Given the description of an element on the screen output the (x, y) to click on. 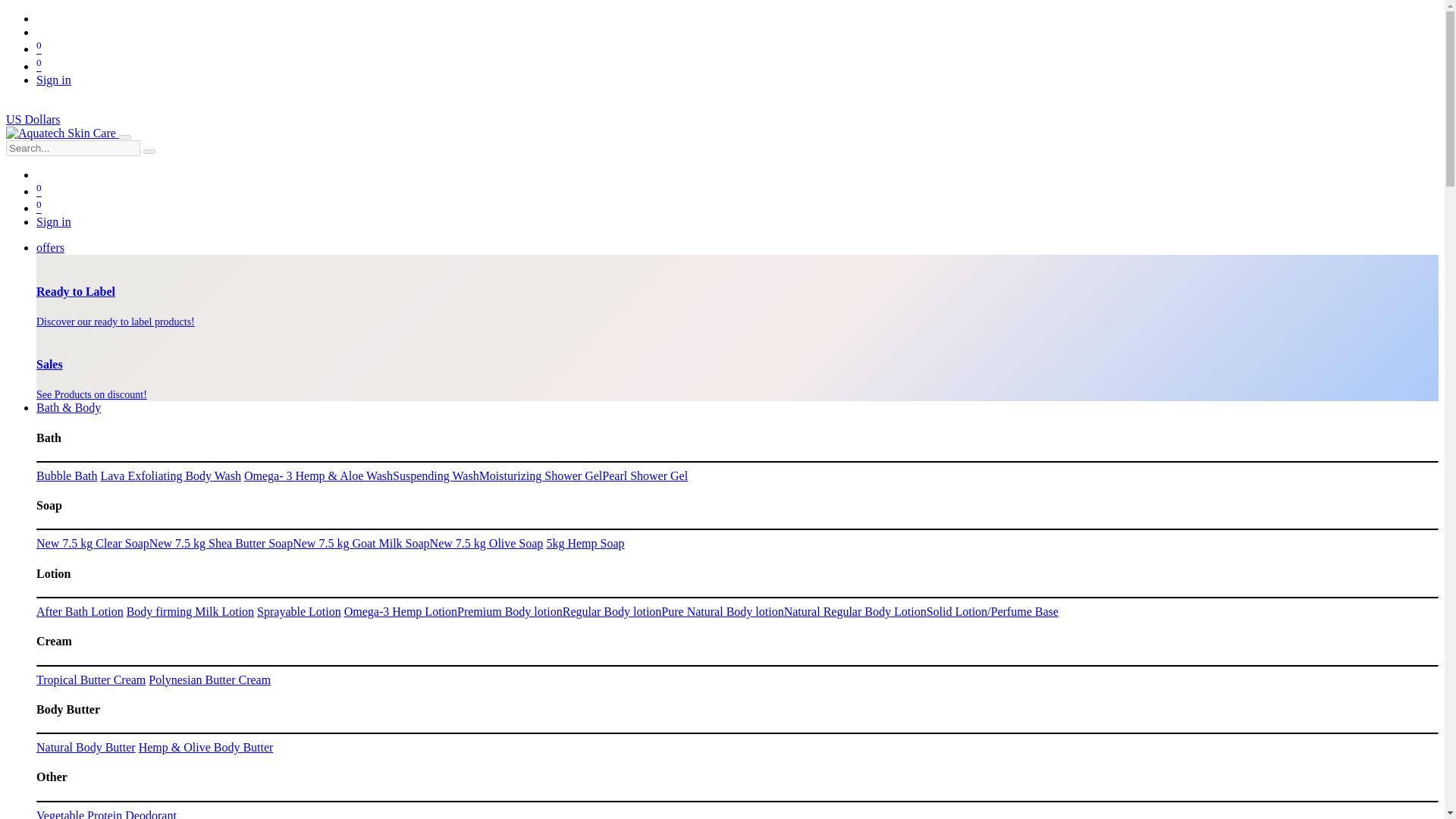
0 (39, 65)
Pure Natural Body lotion (722, 611)
Pearl Shower Gel (644, 475)
Premium Body lotion (509, 611)
0 (39, 48)
offers (50, 246)
0 (39, 207)
0 (39, 191)
Natural Regular Body Lotion (855, 611)
Suspending Wash (436, 475)
New 7.5 kg Olive Soap (486, 543)
Aquatech Skin Care (60, 132)
US Dollars (33, 119)
Sign in (53, 79)
Sign in (53, 221)
